Given the description of an element on the screen output the (x, y) to click on. 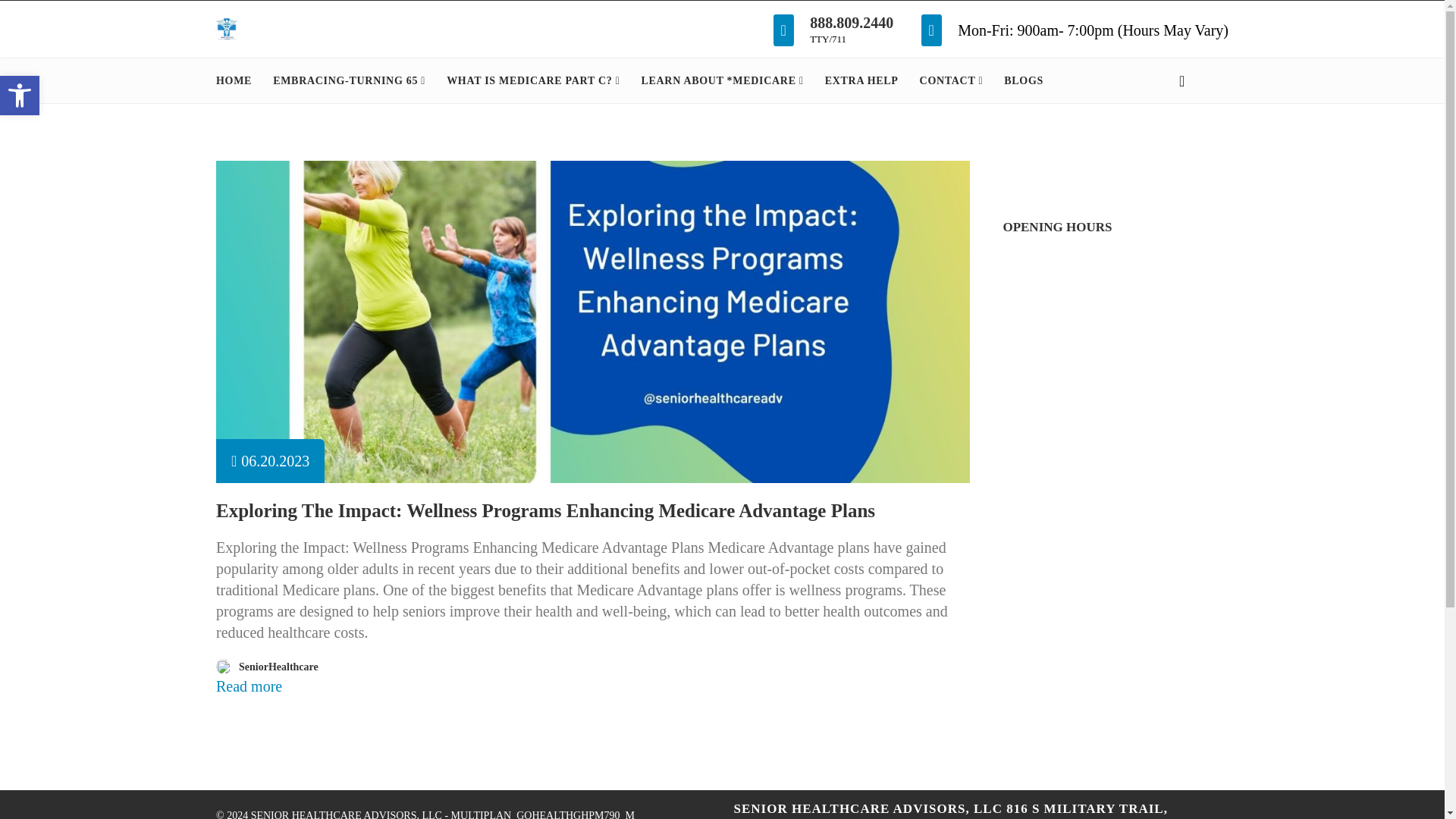
WHAT IS MEDICARE PART C? (19, 95)
888.809.2440 (532, 81)
Accessibility Tools (851, 22)
EMBRACING-TURNING 65 (19, 95)
Accessibility Tools (348, 81)
HOME (19, 95)
